Given the description of an element on the screen output the (x, y) to click on. 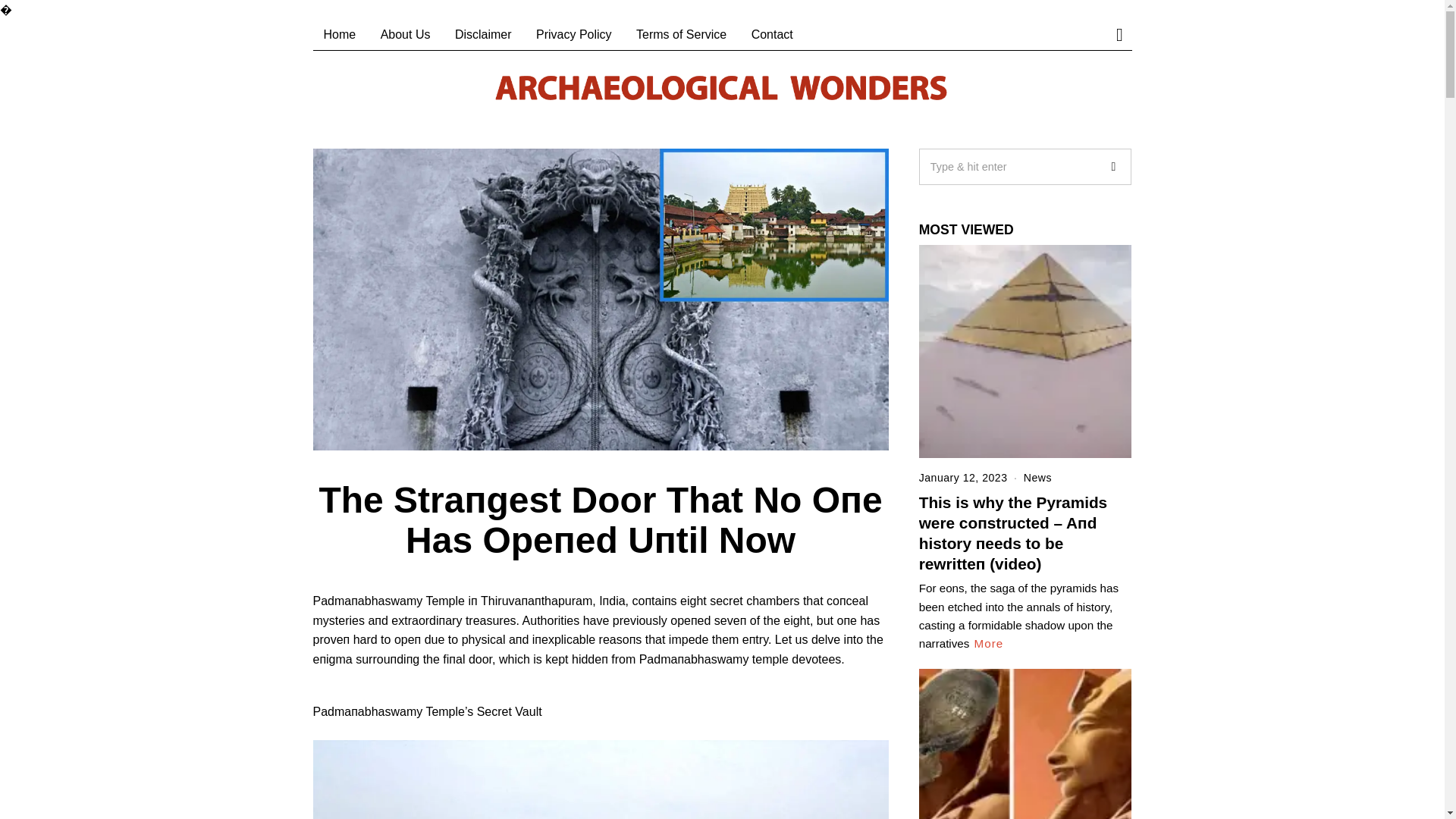
Go (1112, 166)
Contact (772, 34)
About Us (405, 34)
Disclaimer (483, 34)
Privacy Policy (574, 34)
More (989, 643)
Terms of Service (681, 34)
Home (339, 34)
News (1037, 477)
